Given the description of an element on the screen output the (x, y) to click on. 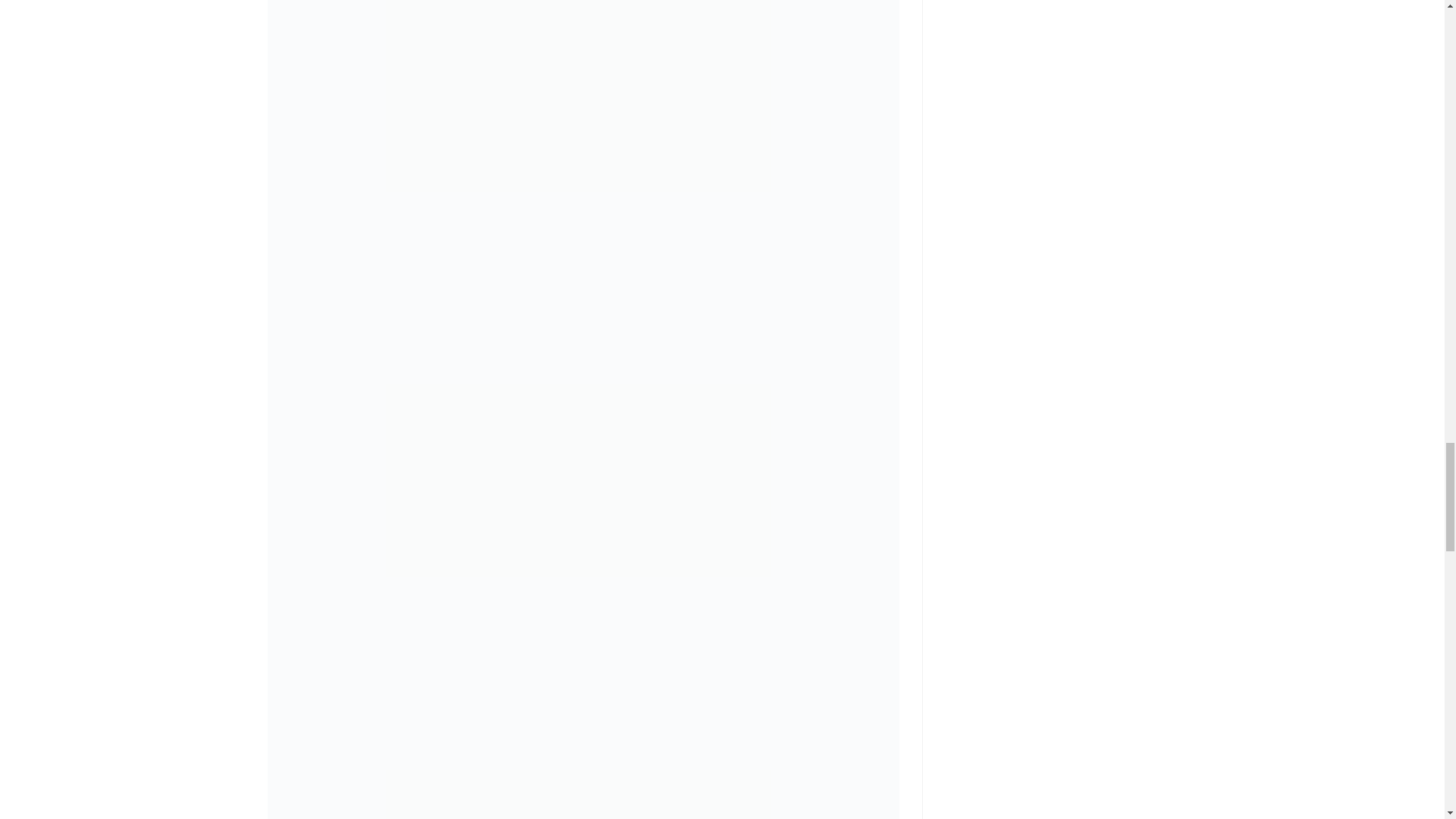
Artist in Paris 3 (582, 717)
